Given the description of an element on the screen output the (x, y) to click on. 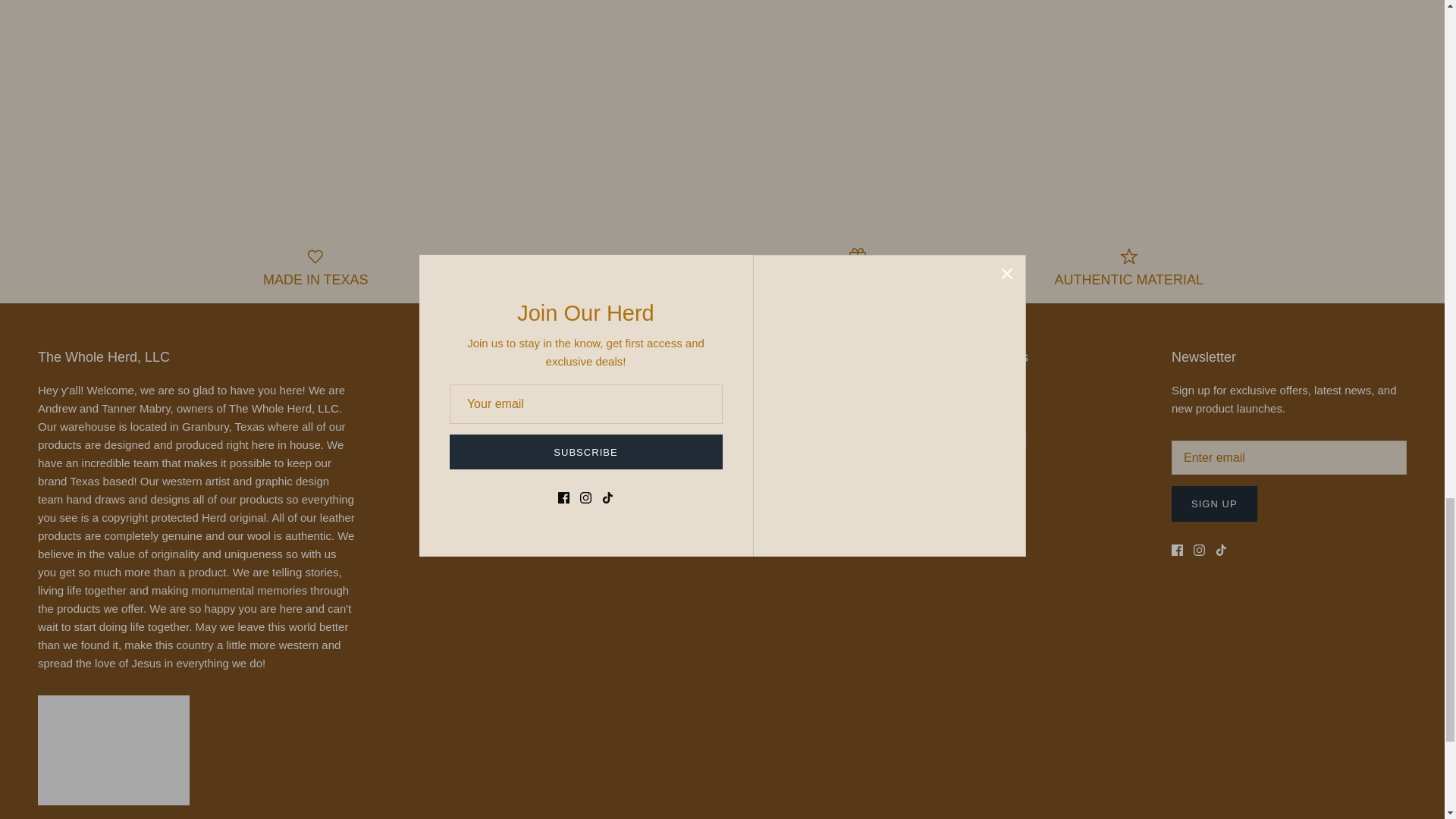
Facebook (1177, 550)
Instagram (1199, 550)
